Given the description of an element on the screen output the (x, y) to click on. 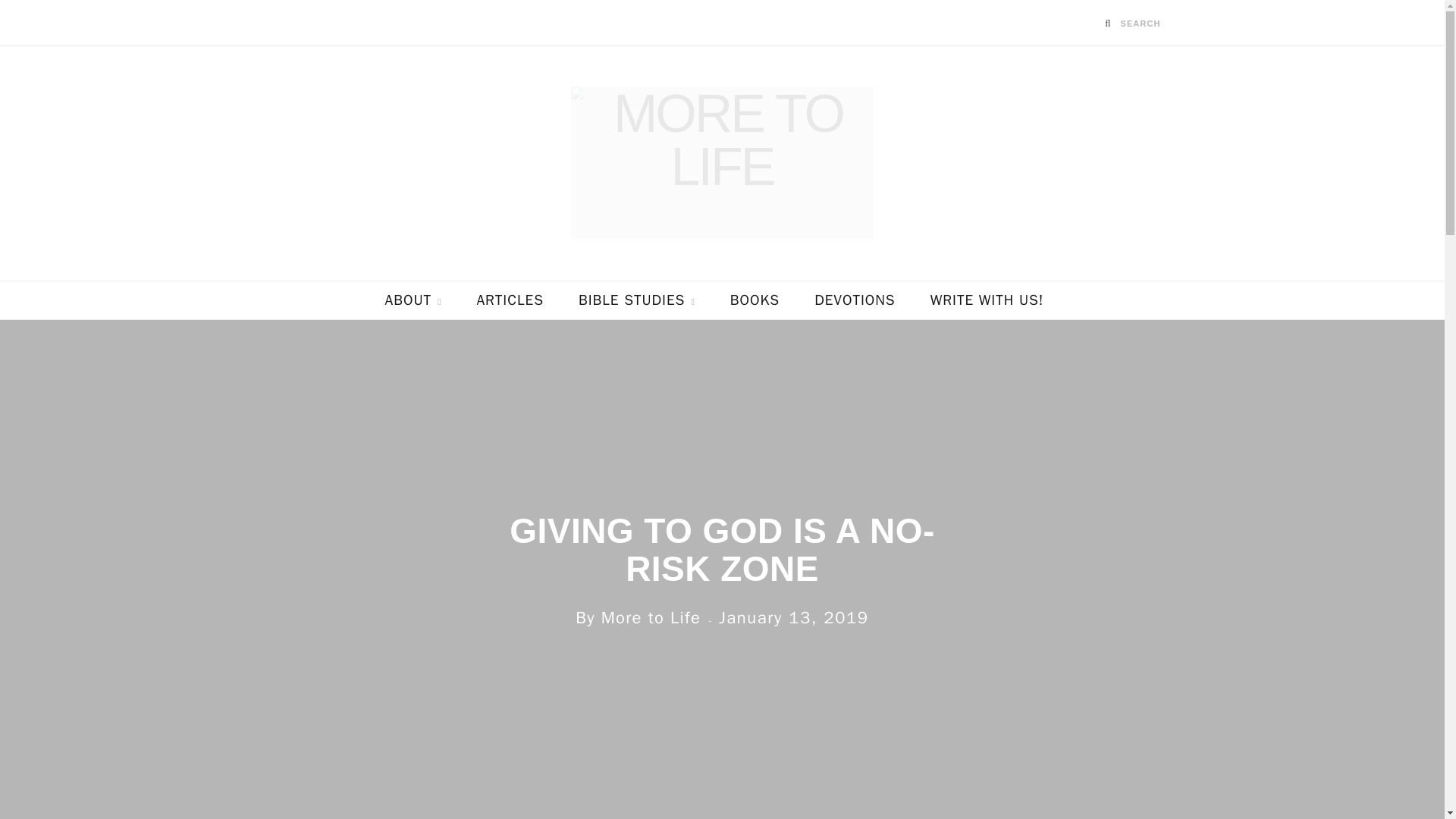
DEVOTIONS (854, 300)
More to Life (650, 617)
WRITE WITH US! (986, 300)
Posts by More to Life (650, 617)
January 13, 2019 (794, 617)
ARTICLES (509, 300)
ABOUT (413, 300)
BOOKS (754, 300)
BIBLE STUDIES (636, 300)
More To Life (721, 162)
